Given the description of an element on the screen output the (x, y) to click on. 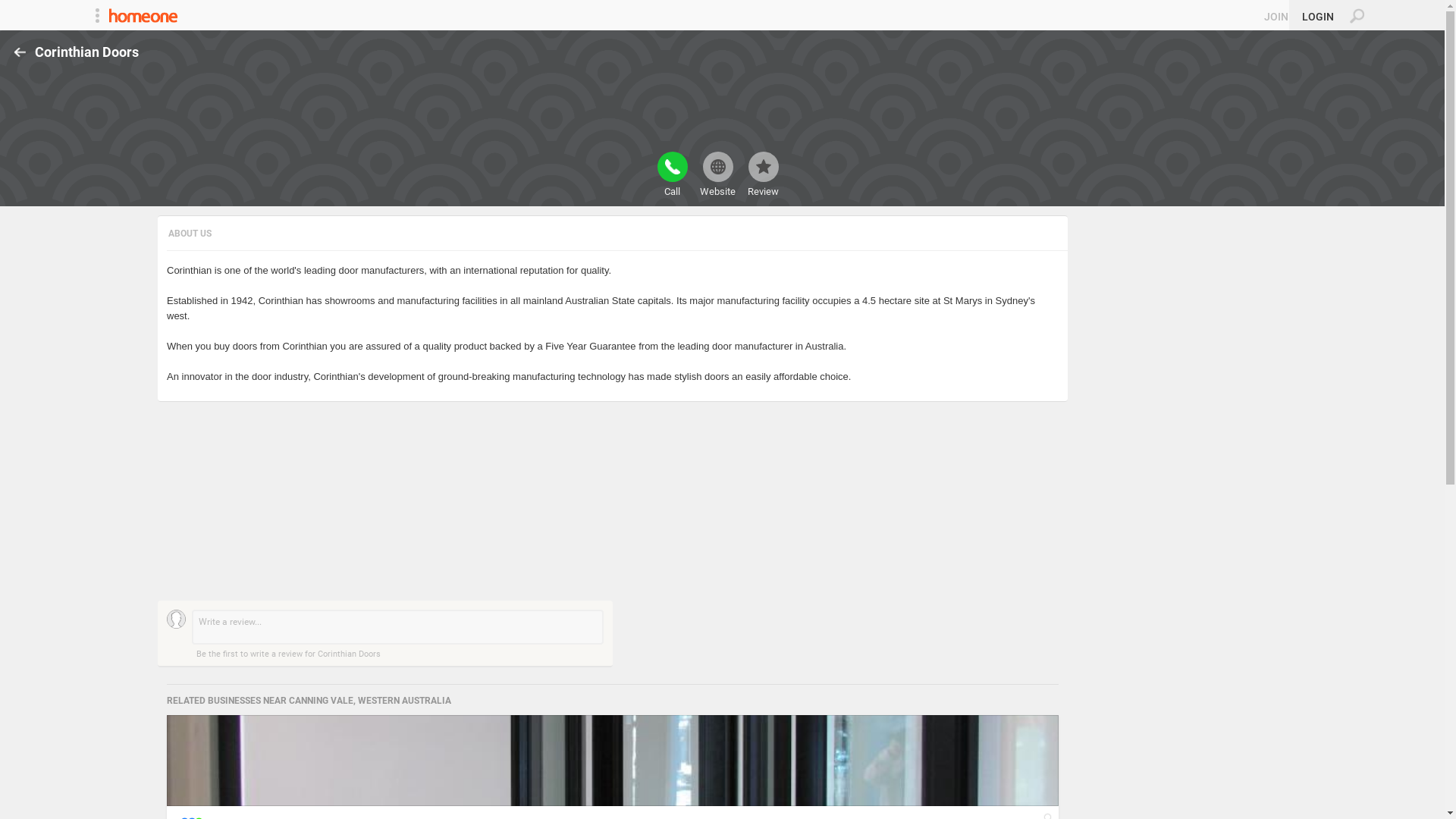
Website Element type: text (717, 174)
Call Element type: text (671, 174)
Submit Element type: text (18, 8)
